Given the description of an element on the screen output the (x, y) to click on. 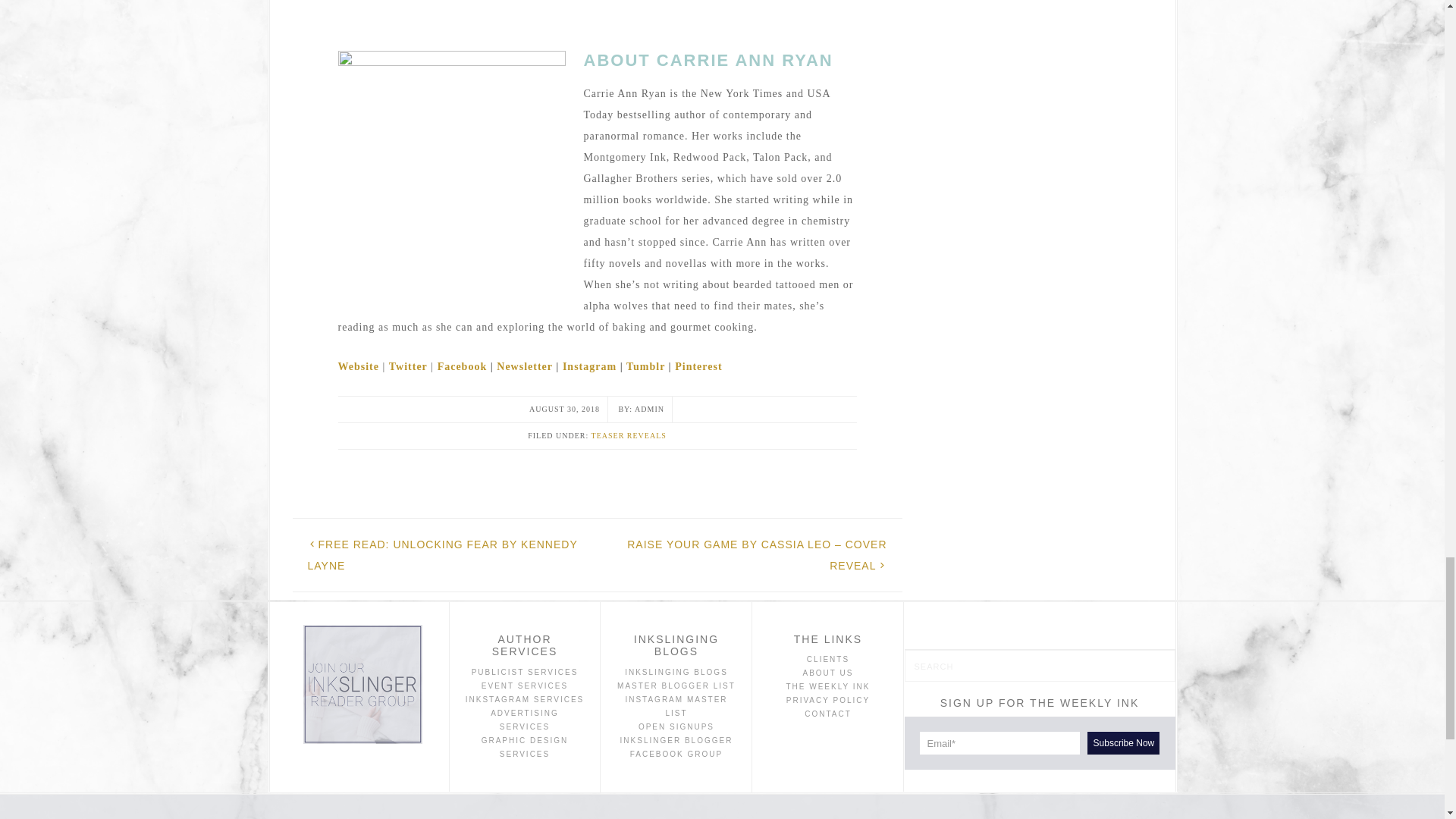
Website (357, 366)
Twitter (408, 366)
Facebook (462, 366)
Newsletter (524, 366)
